Given the description of an element on the screen output the (x, y) to click on. 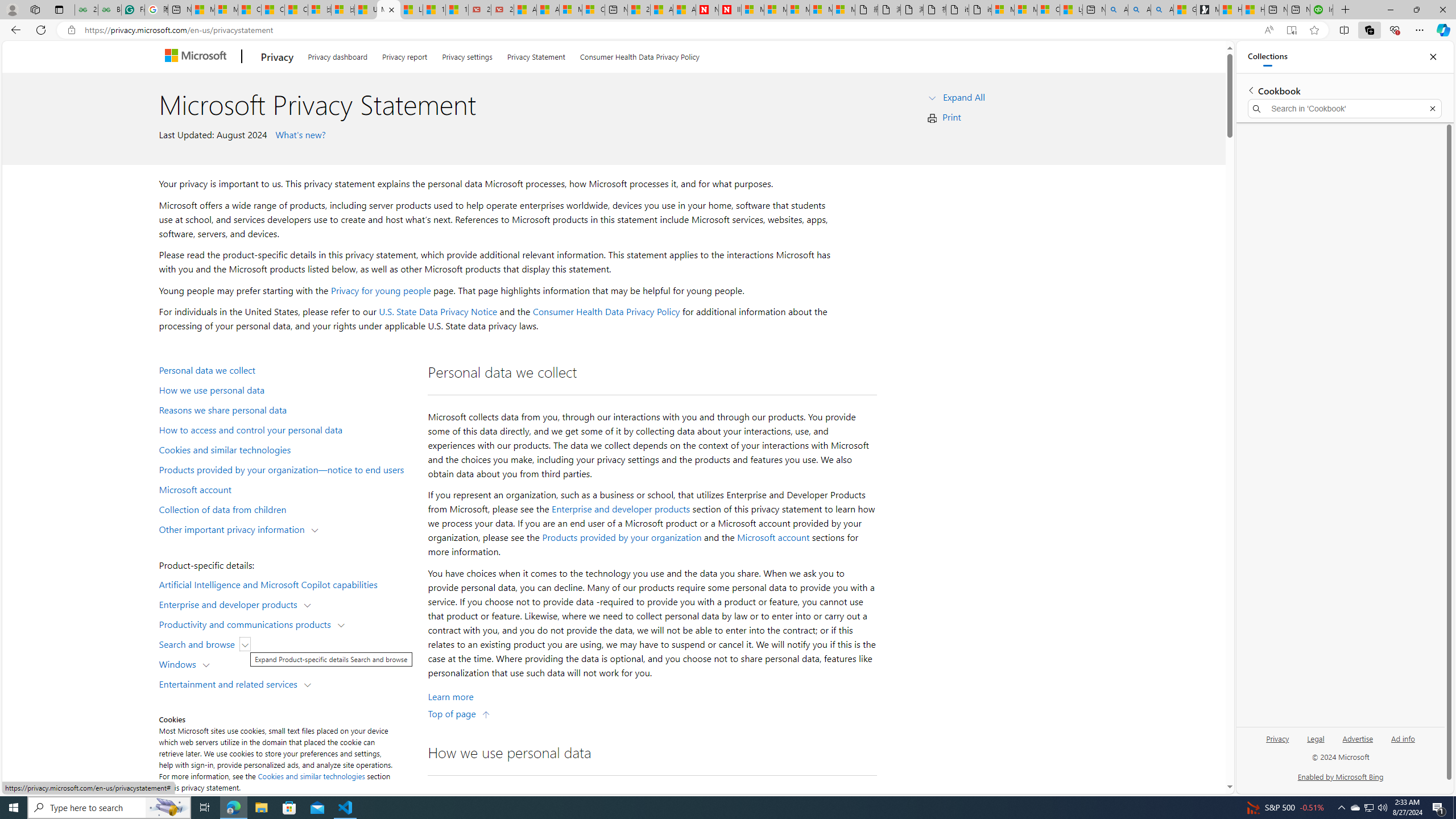
Products provided by your organization (621, 537)
Privacy dashboard (337, 54)
Expand All (963, 96)
Privacy for young people (380, 290)
 What's new? (299, 133)
Illness news & latest pictures from Newsweek.com (729, 9)
Alabama high school quarterback dies - Search (1116, 9)
20 Ways to Boost Your Protein Intake at Every Meal (639, 9)
How we use personal data (287, 389)
